Given the description of an element on the screen output the (x, y) to click on. 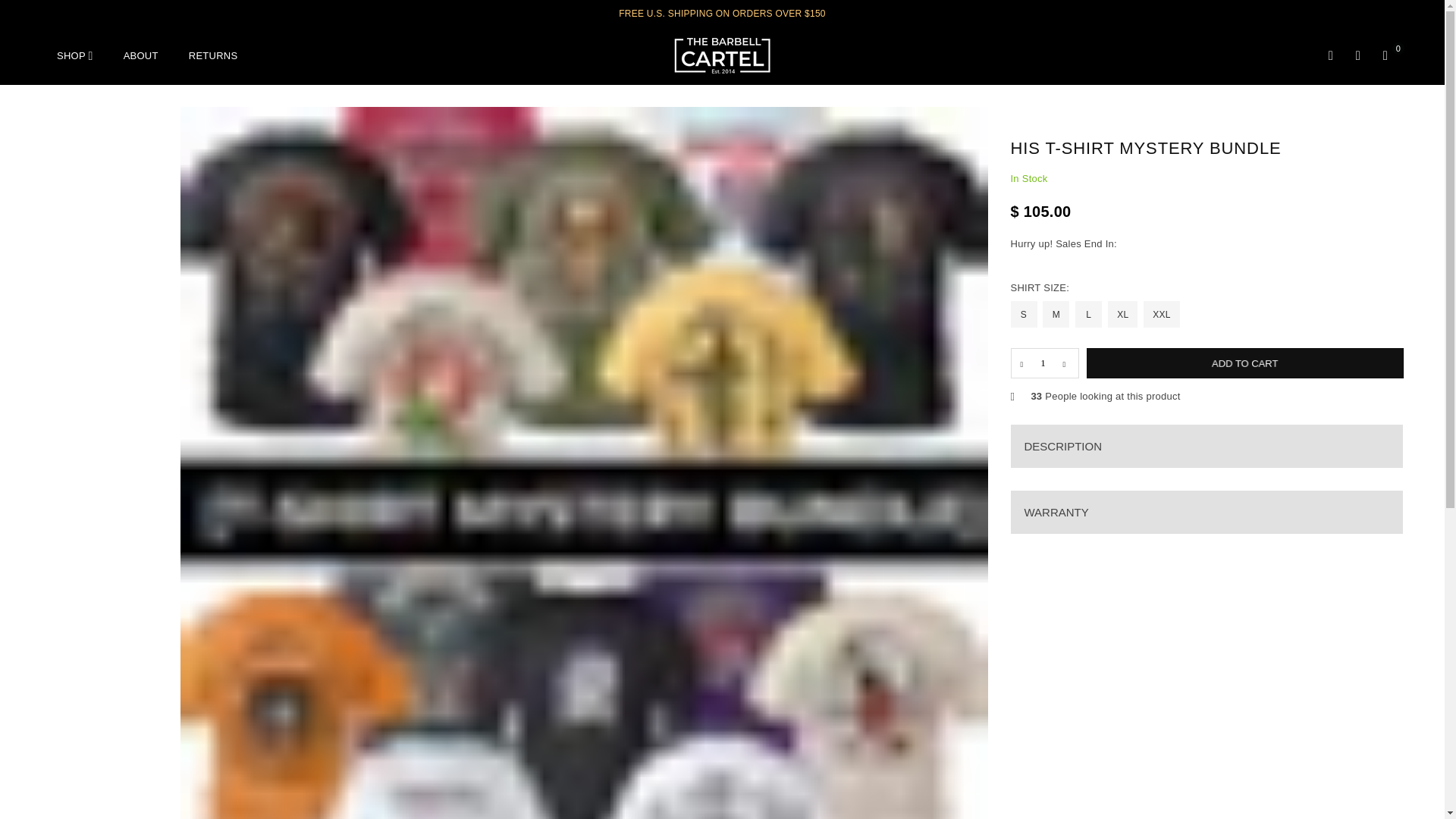
Settings (1357, 55)
ABOUT (141, 55)
Cart (1385, 55)
THE BARBELL CARTEL (721, 55)
SHOP (74, 55)
Quantity (1044, 363)
Search (1330, 55)
RETURNS (212, 55)
